Given the description of an element on the screen output the (x, y) to click on. 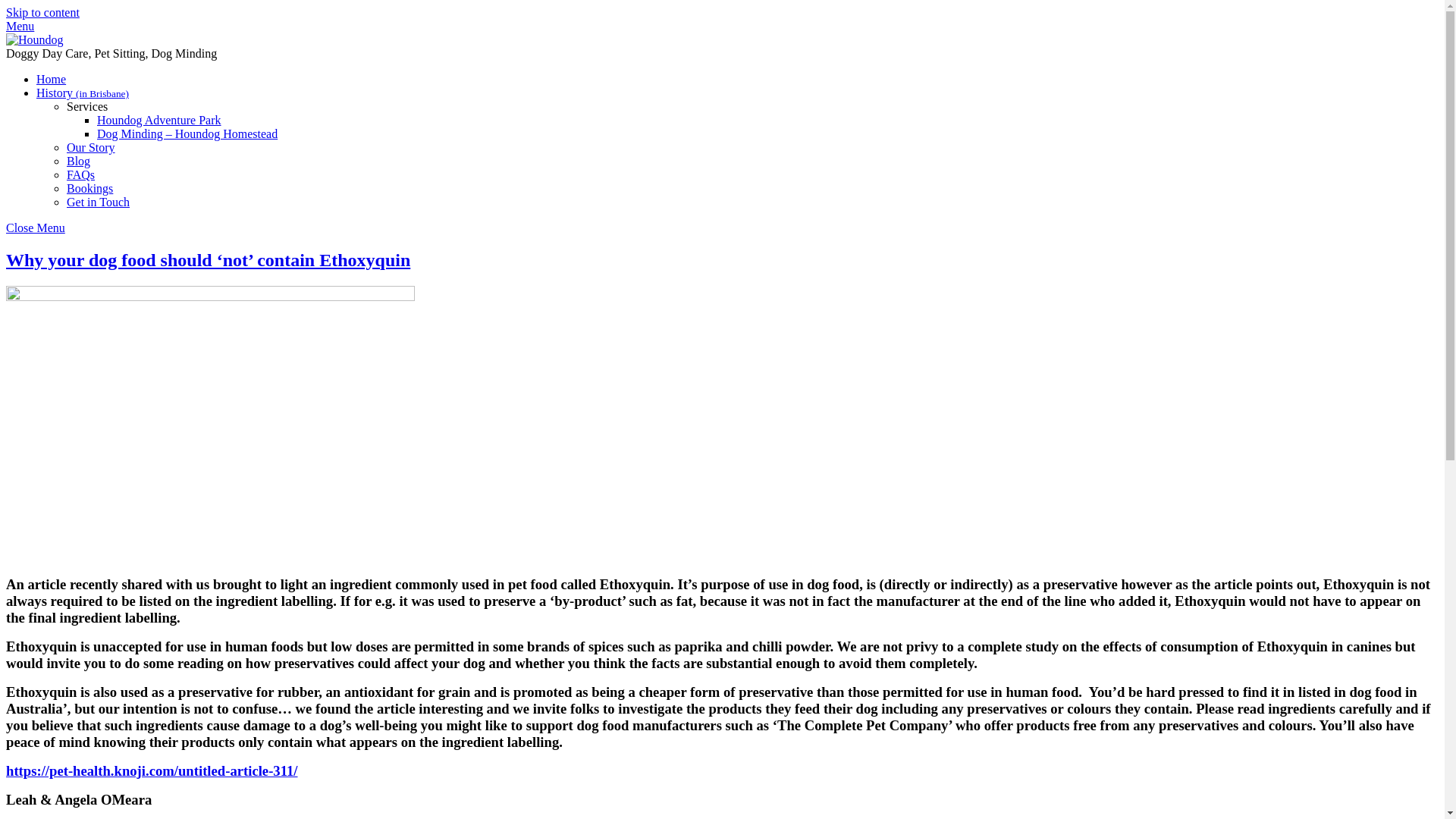
Services (86, 106)
Close Menu (35, 227)
Blog (78, 160)
Home (50, 78)
Houndog (34, 39)
FAQs (80, 174)
Menu (19, 25)
Skip to content (42, 11)
Bookings (89, 187)
Houndog Adventure Park (159, 119)
Our Story (90, 146)
Get in Touch (97, 201)
